Given the description of an element on the screen output the (x, y) to click on. 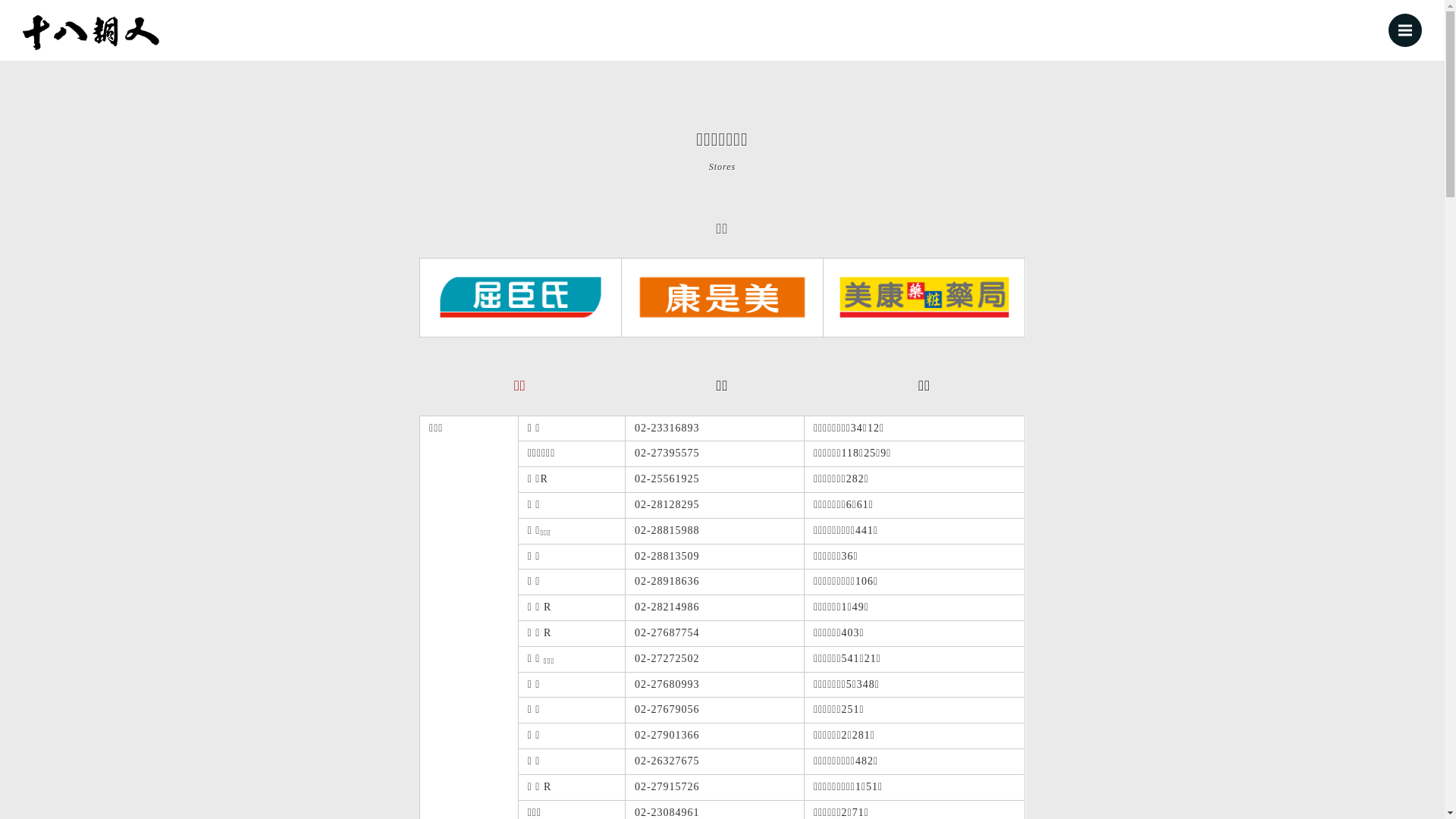
Menu Element type: text (1404, 30)
